Given the description of an element on the screen output the (x, y) to click on. 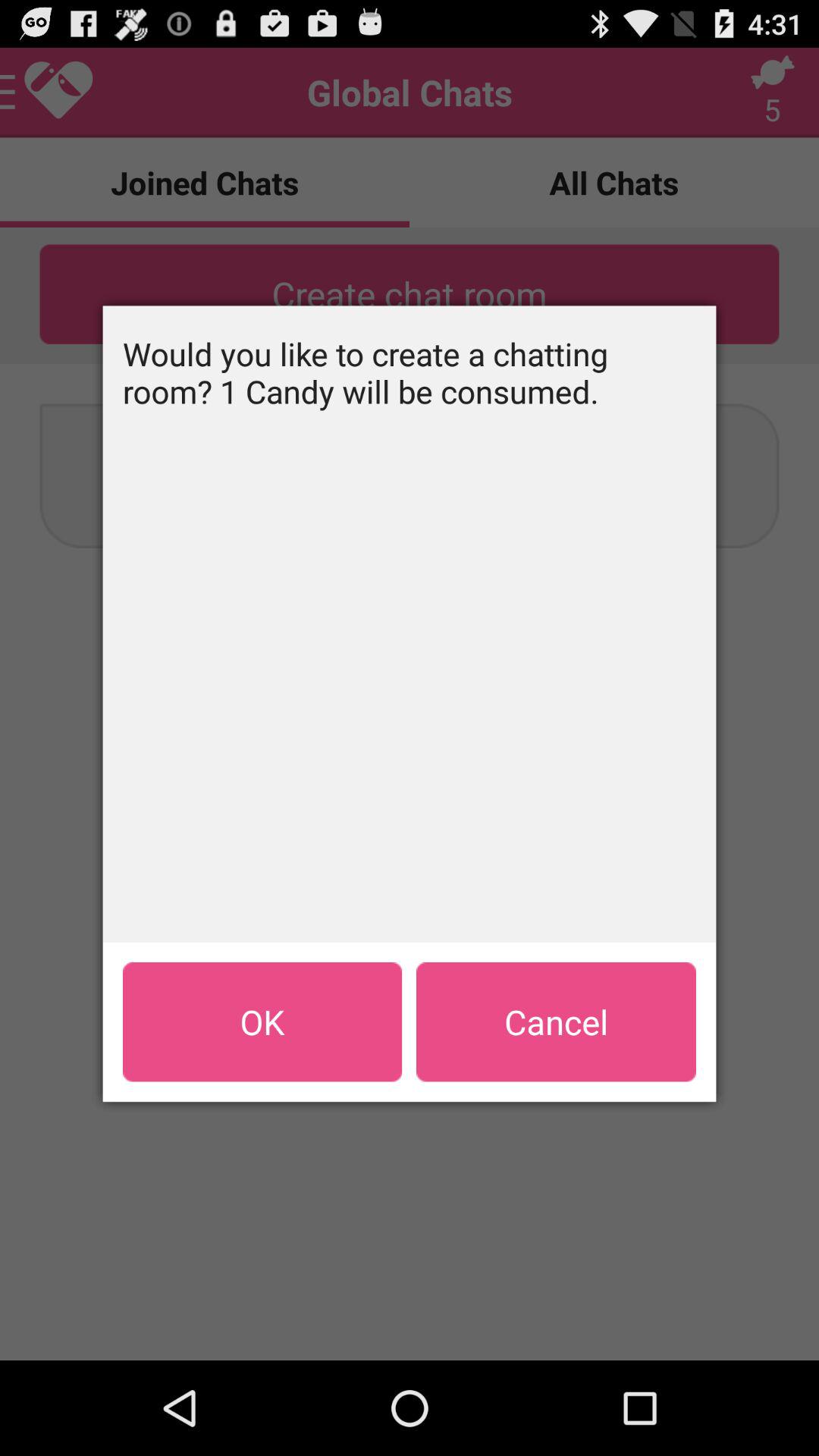
press cancel at the bottom right corner (556, 1021)
